Given the description of an element on the screen output the (x, y) to click on. 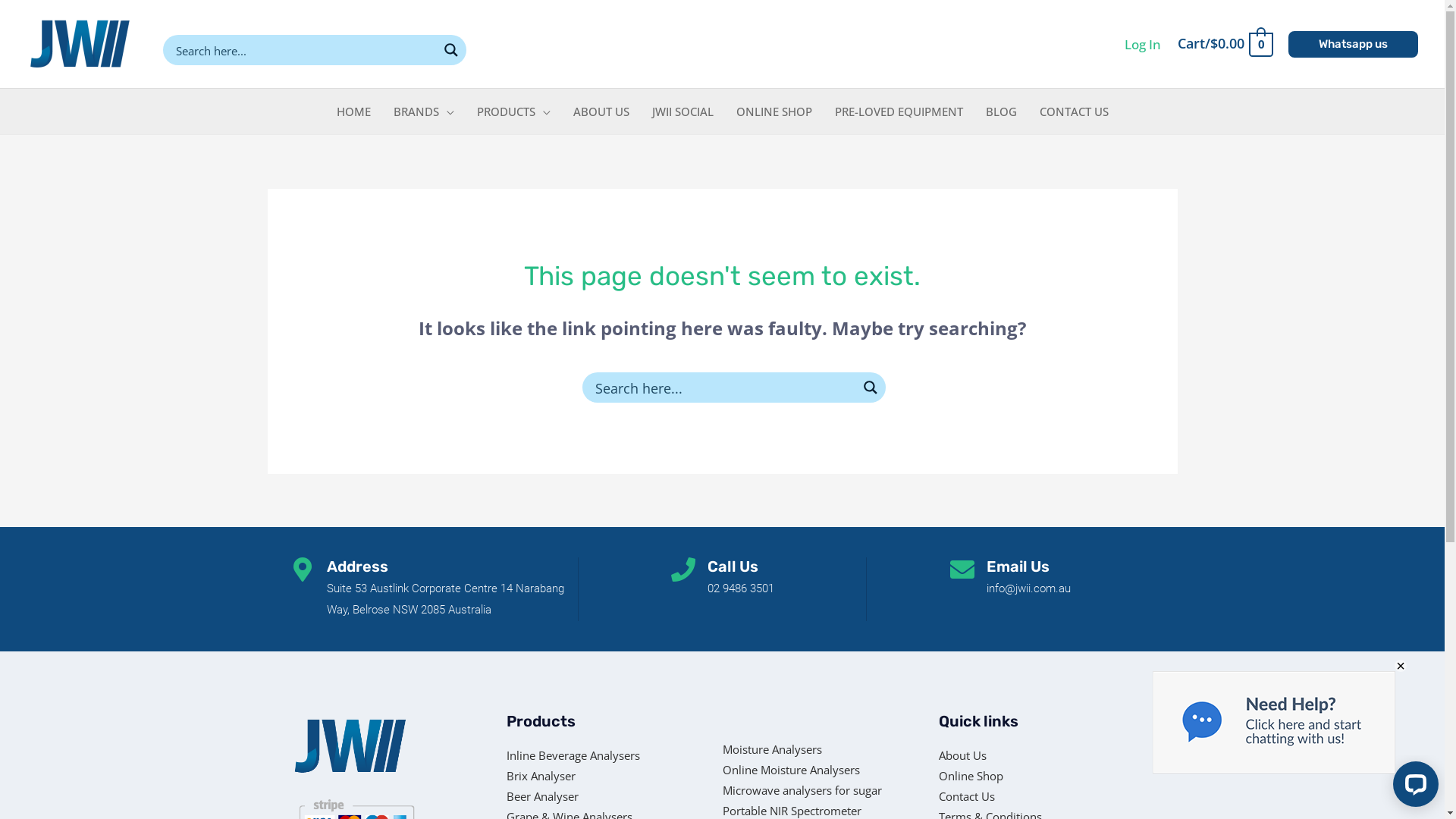
Moisture Analysers Element type: text (816, 749)
Brix Analyser Element type: text (614, 775)
Online Moisture Analysers Element type: text (816, 769)
Address Element type: text (356, 566)
CONTACT US Element type: text (1074, 111)
Inline Beverage Analysers Element type: text (614, 755)
Whatsapp us Element type: text (1353, 44)
About Us Element type: text (989, 755)
Log In Element type: text (1142, 43)
HOME Element type: text (352, 111)
ONLINE SHOP Element type: text (773, 111)
Cart/$0.00
0 Element type: text (1224, 43)
ABOUT US Element type: text (600, 111)
Online Shop Element type: text (989, 775)
PRE-LOVED EQUIPMENT Element type: text (898, 111)
Contact Us Element type: text (989, 796)
PRODUCTS Element type: text (513, 111)
Microwave analysers for sugar Element type: text (816, 790)
Call Us Element type: text (732, 566)
Beer Analyser Element type: text (614, 796)
Email Us Element type: text (1017, 566)
BRANDS Element type: text (423, 111)
BLOG Element type: text (1000, 111)
JWII SOCIAL Element type: text (682, 111)
